Given the description of an element on the screen output the (x, y) to click on. 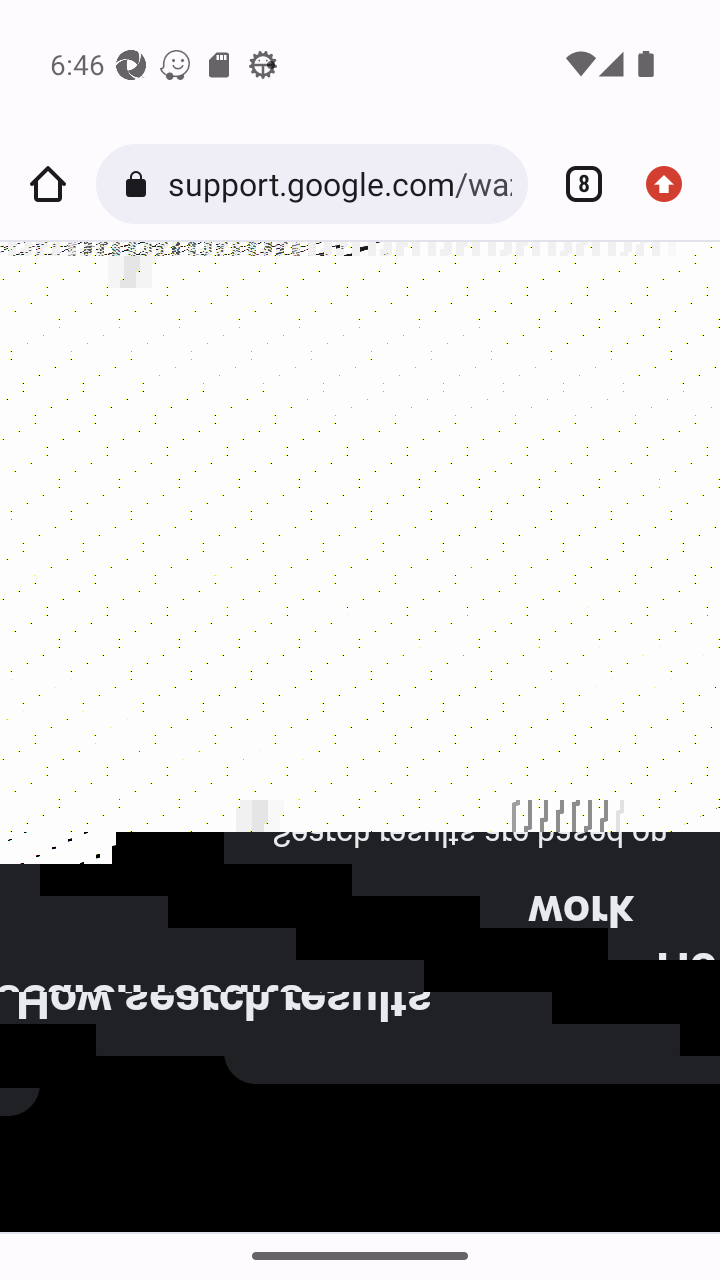
Home (47, 184)
Connection is secure (139, 184)
Switch or close tabs (575, 184)
Update available. More options (672, 184)
support.google.com/waze/answer/11942300 (339, 184)
